Given the description of an element on the screen output the (x, y) to click on. 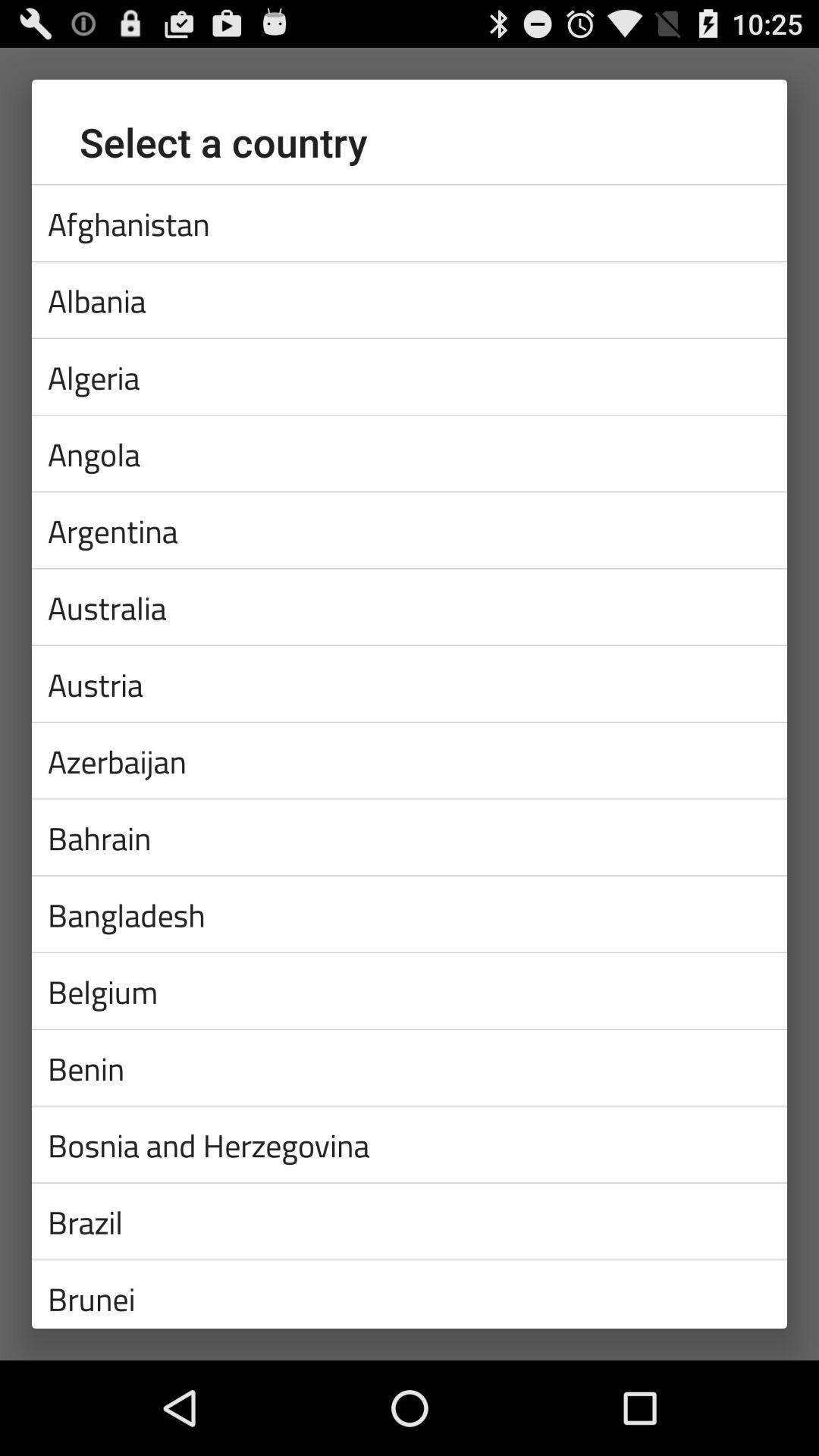
turn on belgium item (409, 990)
